Given the description of an element on the screen output the (x, y) to click on. 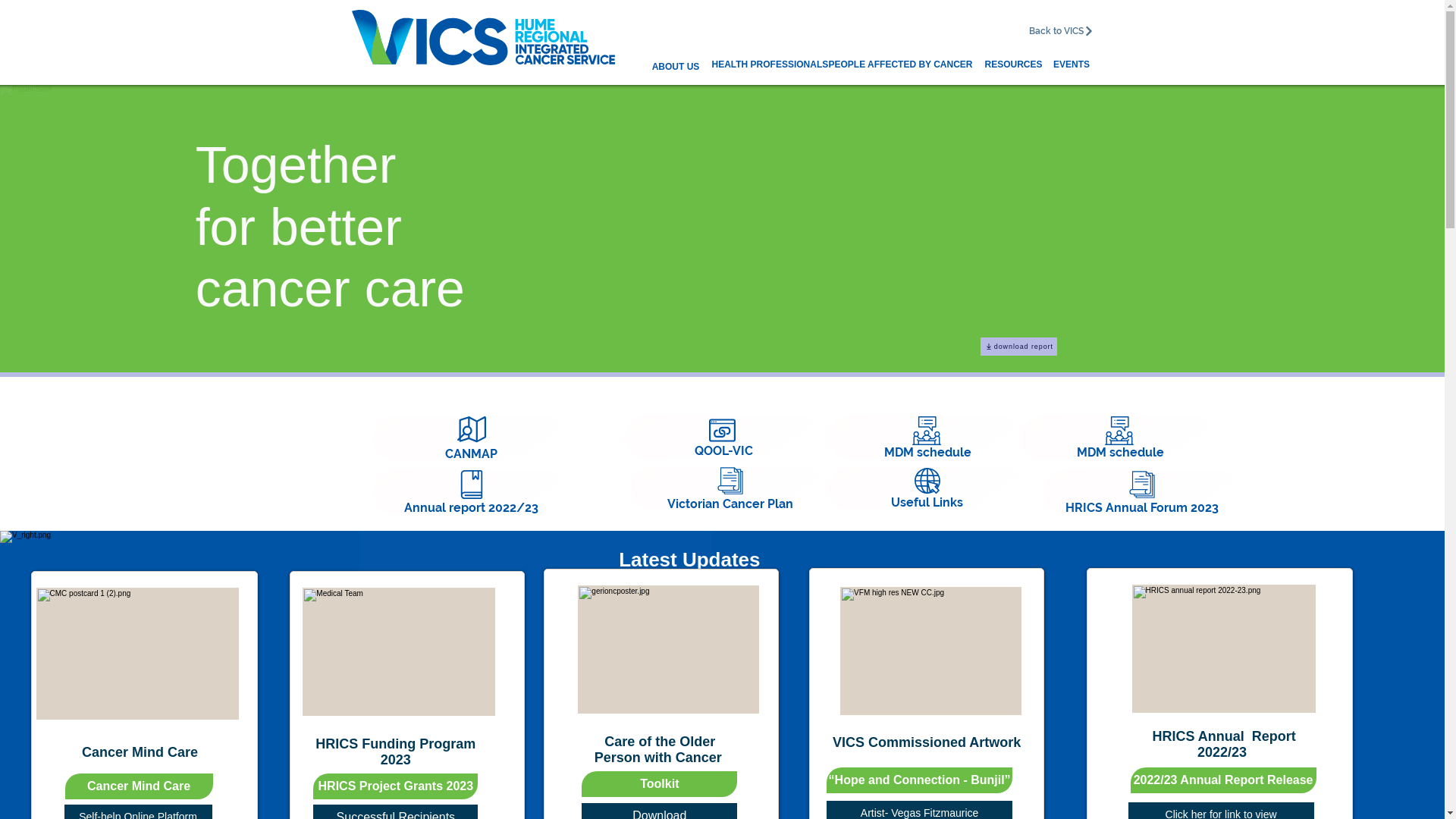
CANMAP Element type: text (471, 438)
Annual report 2022/23 Element type: text (471, 492)
HEALTH PROFESSIONALS Element type: text (769, 64)
MDM schedule Element type: text (1118, 437)
EVENTS Element type: text (1071, 64)
Victorian Cancer Plan Element type: text (729, 488)
HRICS Annual Forum 2023 Element type: text (1141, 492)
QOOL-VIC Element type: text (723, 437)
Cancer Mind Care Element type: text (139, 786)
Back to VICS Element type: text (1060, 30)
MDM schedule Element type: text (926, 437)
RESOURCES Element type: text (1012, 64)
PEOPLE AFFECTED BY CANCER Element type: text (900, 64)
HRICS Project Grants 2023 Element type: text (395, 786)
download report Element type: text (1018, 346)
Useful Links Element type: text (926, 488)
ABOUT US Element type: text (675, 66)
